Given the description of an element on the screen output the (x, y) to click on. 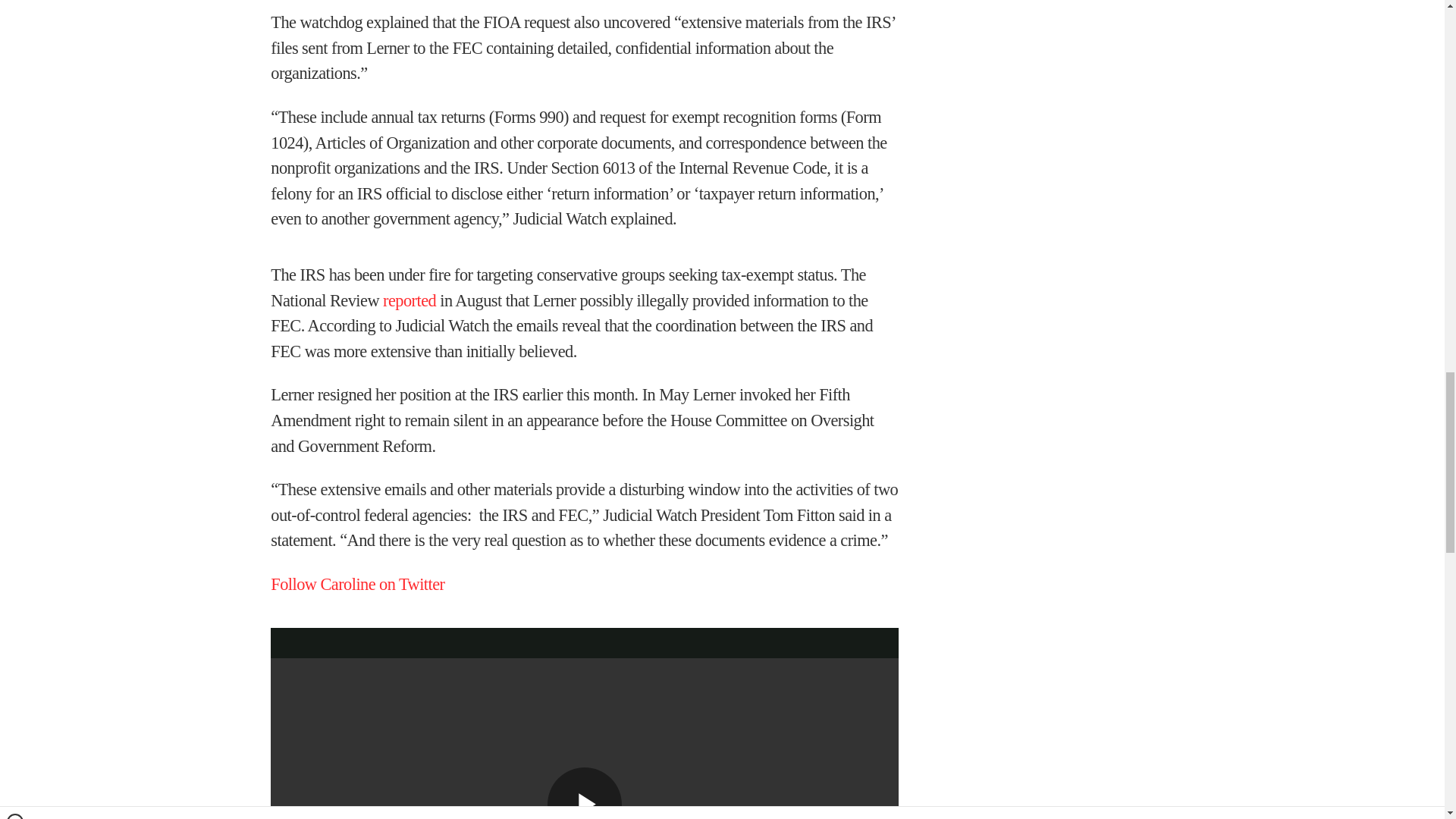
Play Video (584, 793)
reported (408, 300)
